Given the description of an element on the screen output the (x, y) to click on. 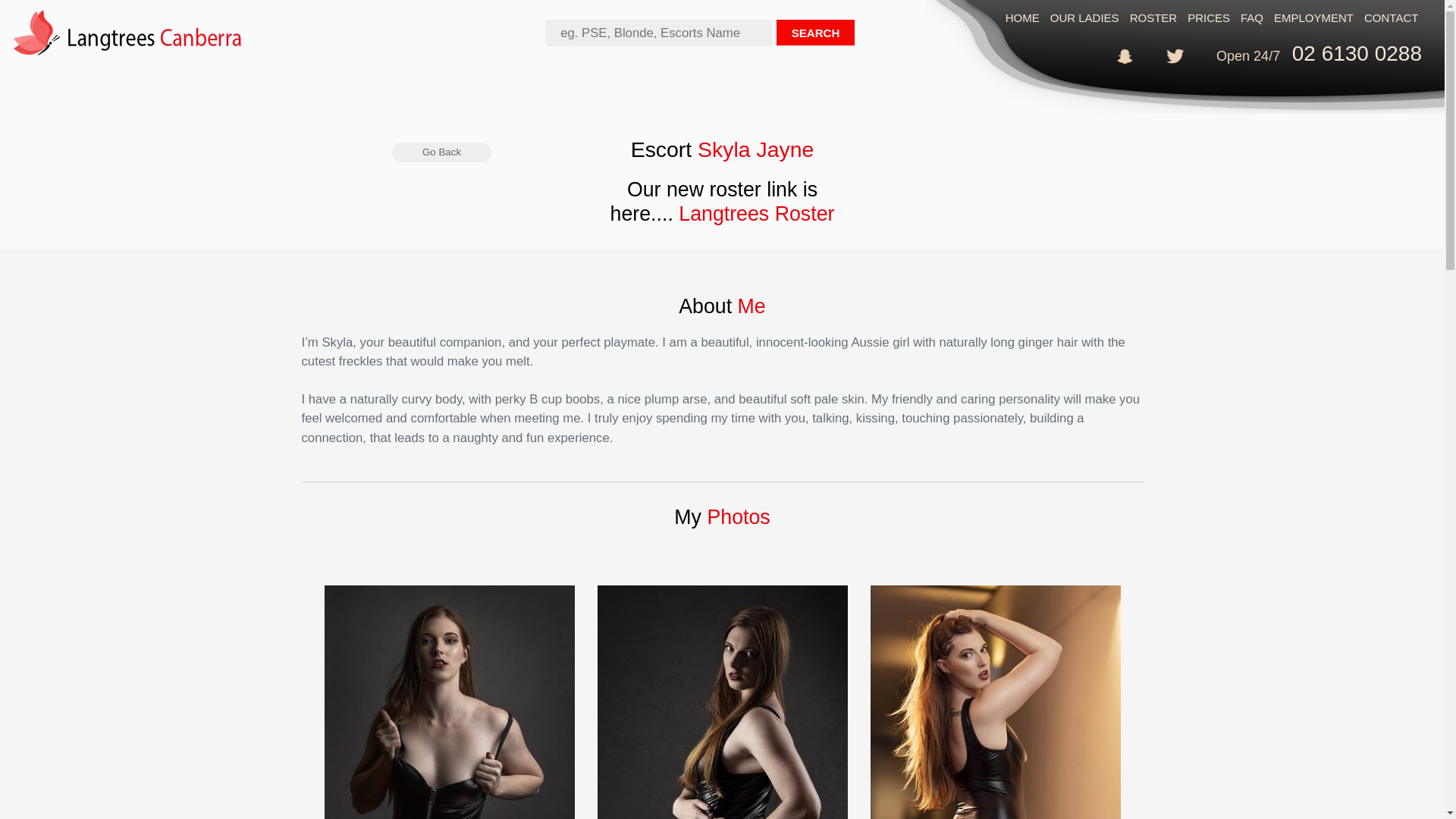
CONTACT Element type: text (1390, 18)
FAQ Element type: text (1251, 18)
Langtrees Roster Element type: text (756, 213)
OUR LADIES Element type: text (1084, 18)
PRICES Element type: text (1208, 18)
HOME Element type: text (1022, 18)
SEARCH Element type: text (814, 32)
ROSTER Element type: text (1153, 18)
Go Back Element type: text (441, 152)
EMPLOYMENT Element type: text (1313, 18)
